Given the description of an element on the screen output the (x, y) to click on. 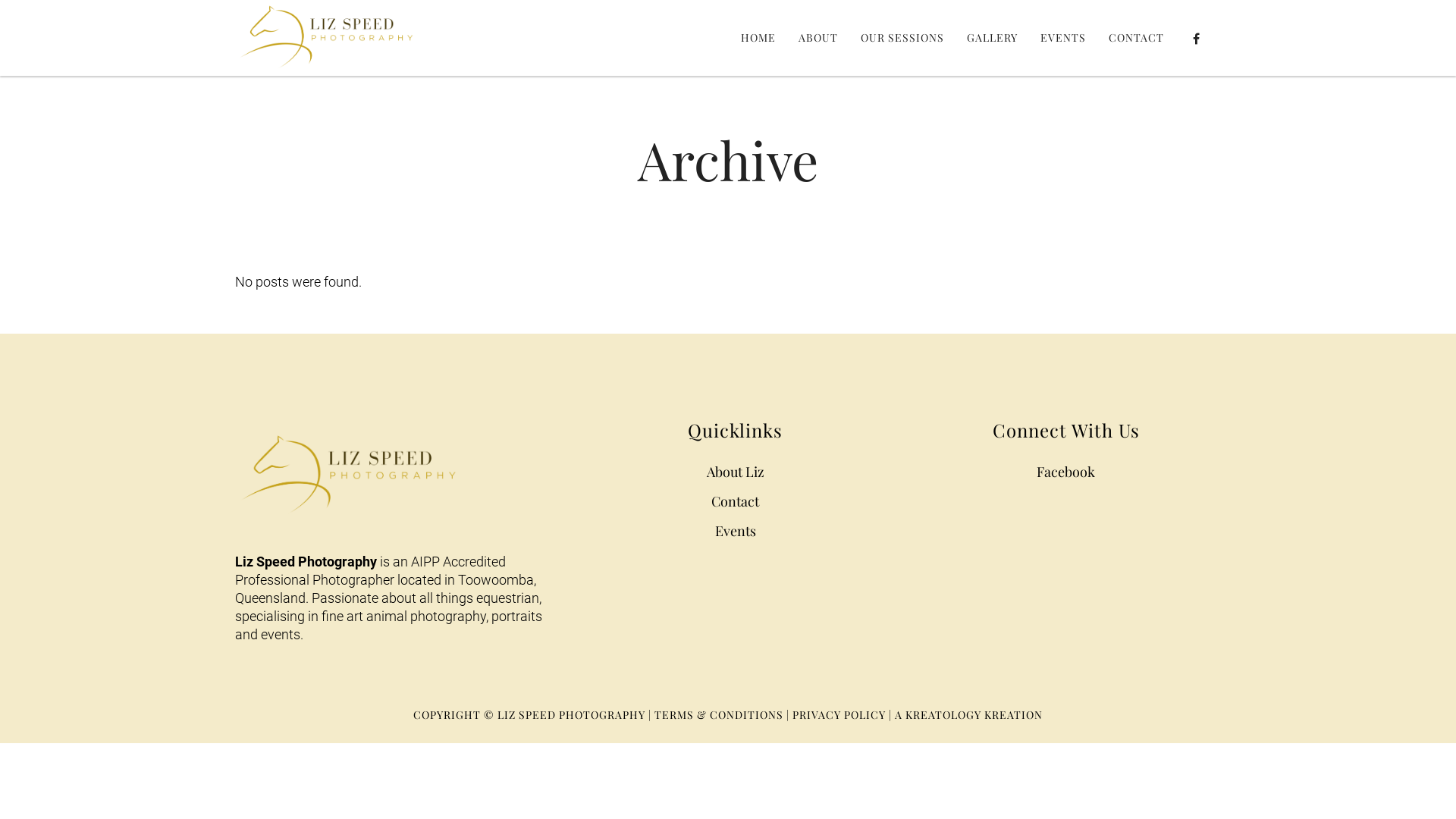
GALLERY Element type: text (992, 37)
About Liz Element type: text (735, 471)
HOME Element type: text (758, 37)
TERMS & CONDITIONS Element type: text (718, 714)
EVENTS Element type: text (1063, 37)
CONTACT Element type: text (1136, 37)
Events Element type: text (735, 530)
KREATOLOGY Element type: text (943, 714)
PRIVACY POLICY Element type: text (838, 714)
Facebook Element type: text (1065, 471)
OUR SESSIONS Element type: text (902, 37)
ABOUT Element type: text (818, 37)
Contact Element type: text (735, 500)
